Given the description of an element on the screen output the (x, y) to click on. 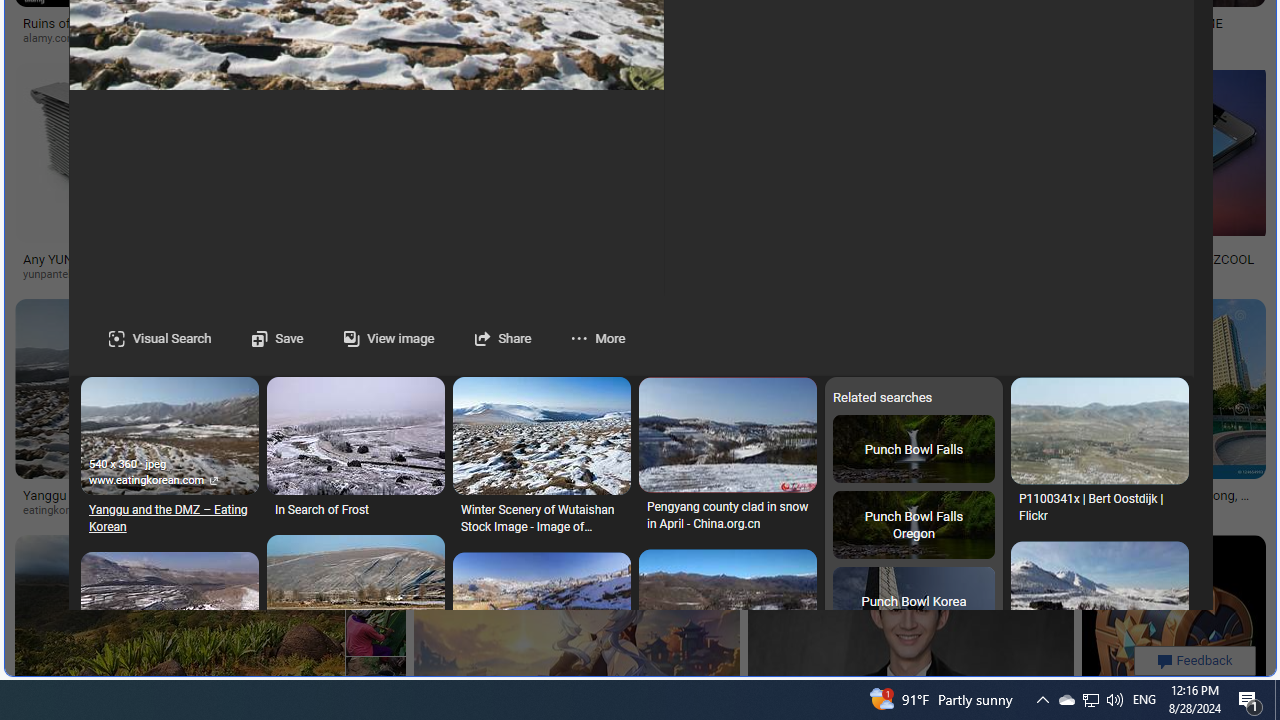
marpple.shop (807, 509)
expedia.es (707, 38)
SavePengyang county clad in snow in April - China.org.cn (726, 459)
shopee.ph (900, 38)
Visual Search (159, 338)
Punch Bowl Korea (913, 601)
iwin-fins.com (576, 273)
Related searches (913, 548)
